Given the description of an element on the screen output the (x, y) to click on. 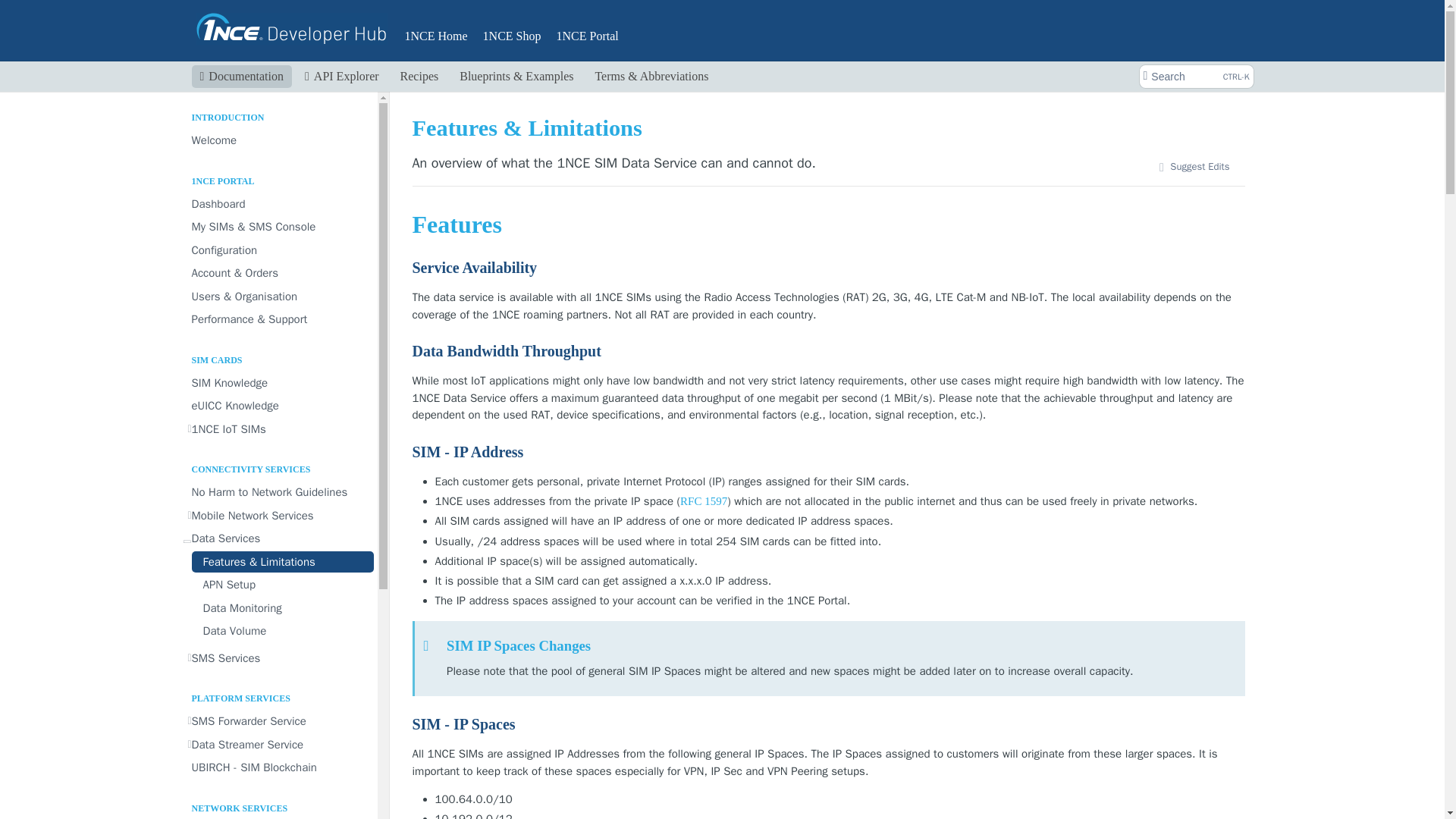
1NCE Shop (512, 36)
1NCE Portal (587, 36)
SIM Knowledge (277, 382)
Documentation (240, 76)
eUICC Knowledge (277, 405)
Configuration (277, 250)
1NCE IoT SIMs (277, 429)
SIM - IP Spaces (828, 723)
Features (828, 224)
1NCE Home (434, 36)
